Given the description of an element on the screen output the (x, y) to click on. 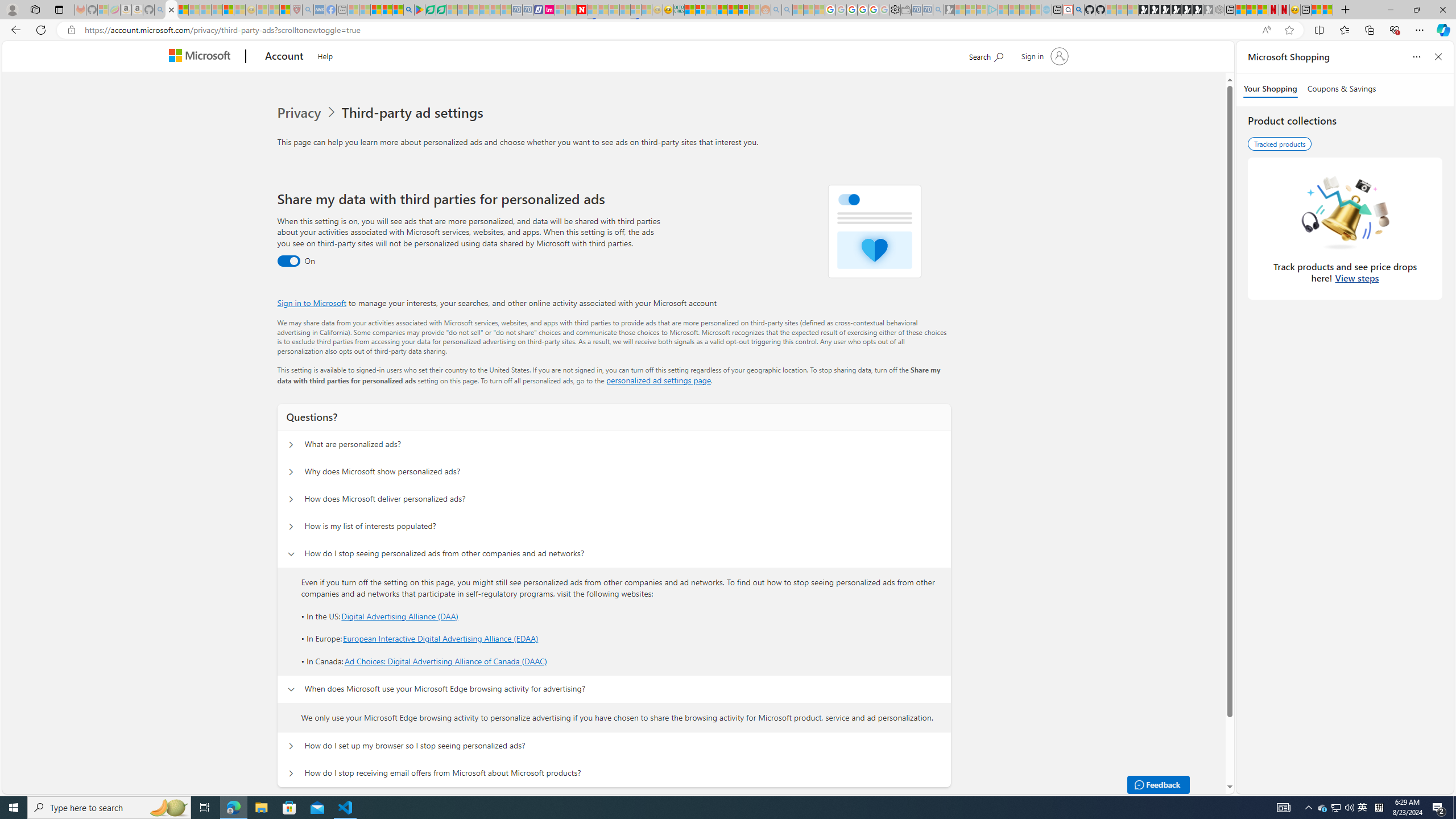
Latest Politics News & Archive | Newsweek.com (582, 9)
Questions? How is my list of interests populated? (290, 526)
